Given the description of an element on the screen output the (x, y) to click on. 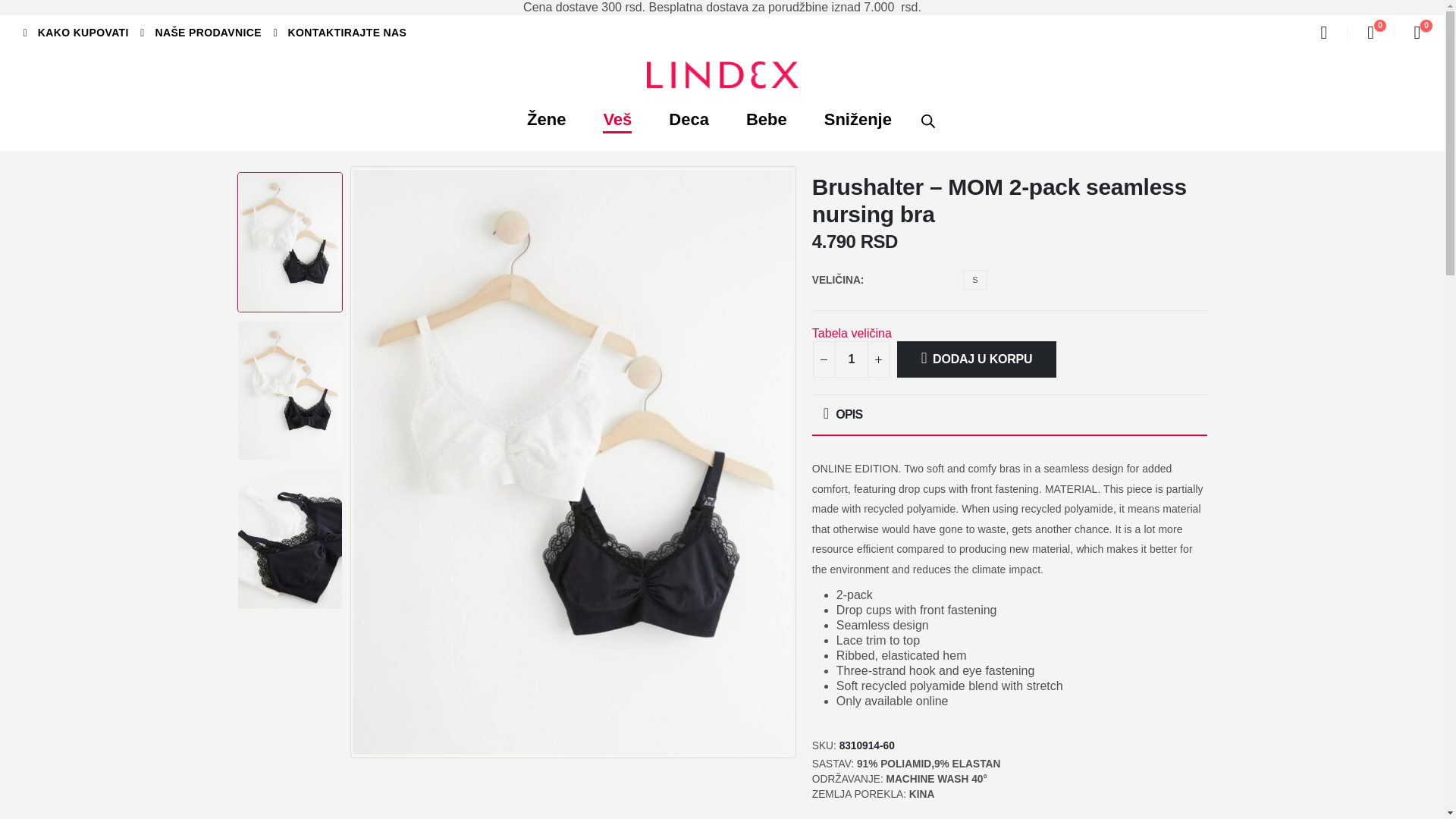
0 (1370, 32)
KONTAKTIRAJTE NAS (335, 31)
My Account (1323, 32)
1 (850, 359)
KAKO KUPOVATI (73, 31)
